Given the description of an element on the screen output the (x, y) to click on. 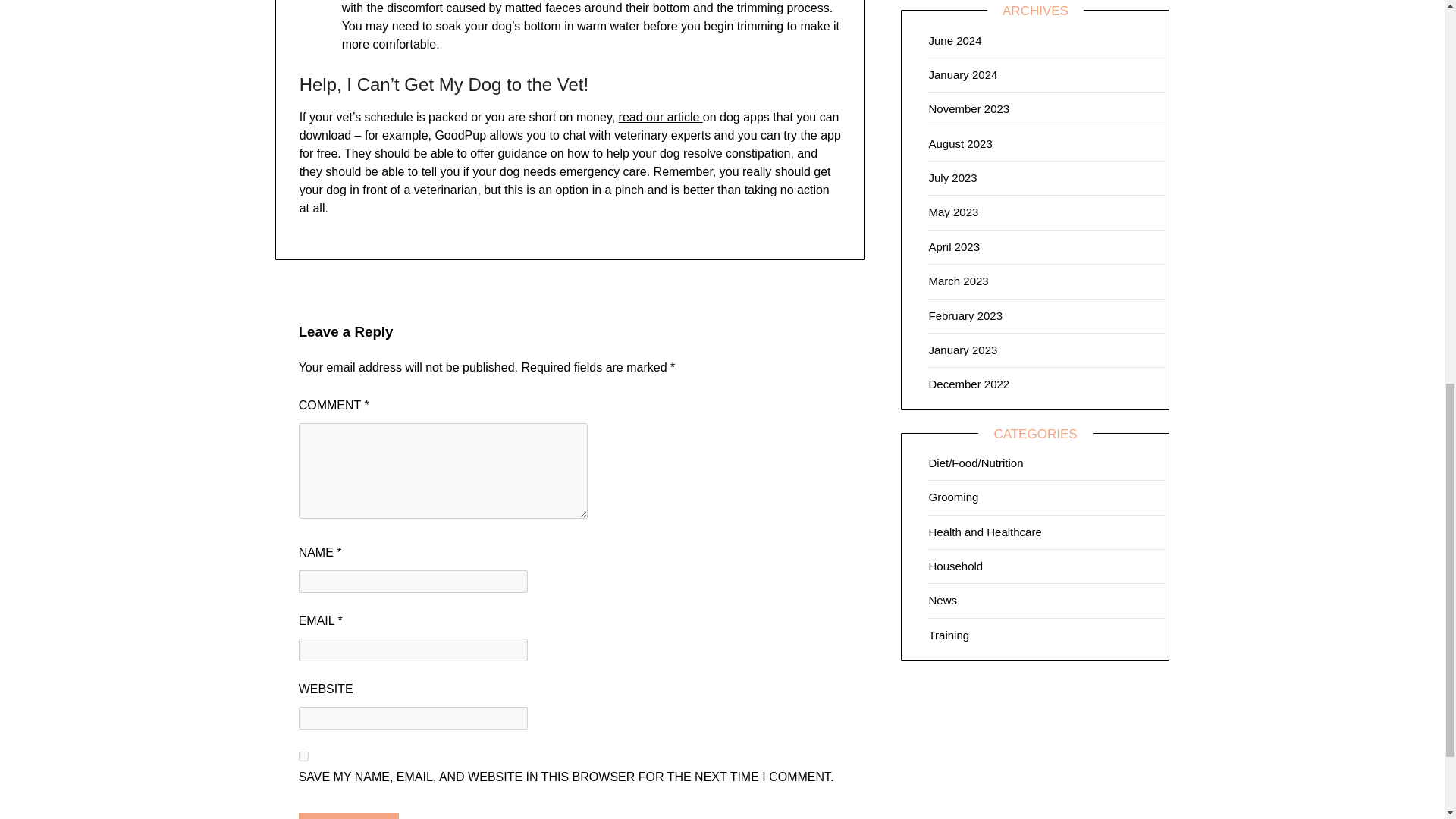
read our article (660, 116)
March 2023 (958, 280)
January 2023 (962, 349)
November 2023 (968, 108)
Post Comment (348, 816)
July 2023 (952, 177)
May 2023 (953, 211)
Post Comment (348, 816)
yes (303, 756)
January 2024 (962, 74)
April 2023 (953, 246)
February 2023 (965, 315)
August 2023 (959, 143)
June 2024 (954, 40)
